Given the description of an element on the screen output the (x, y) to click on. 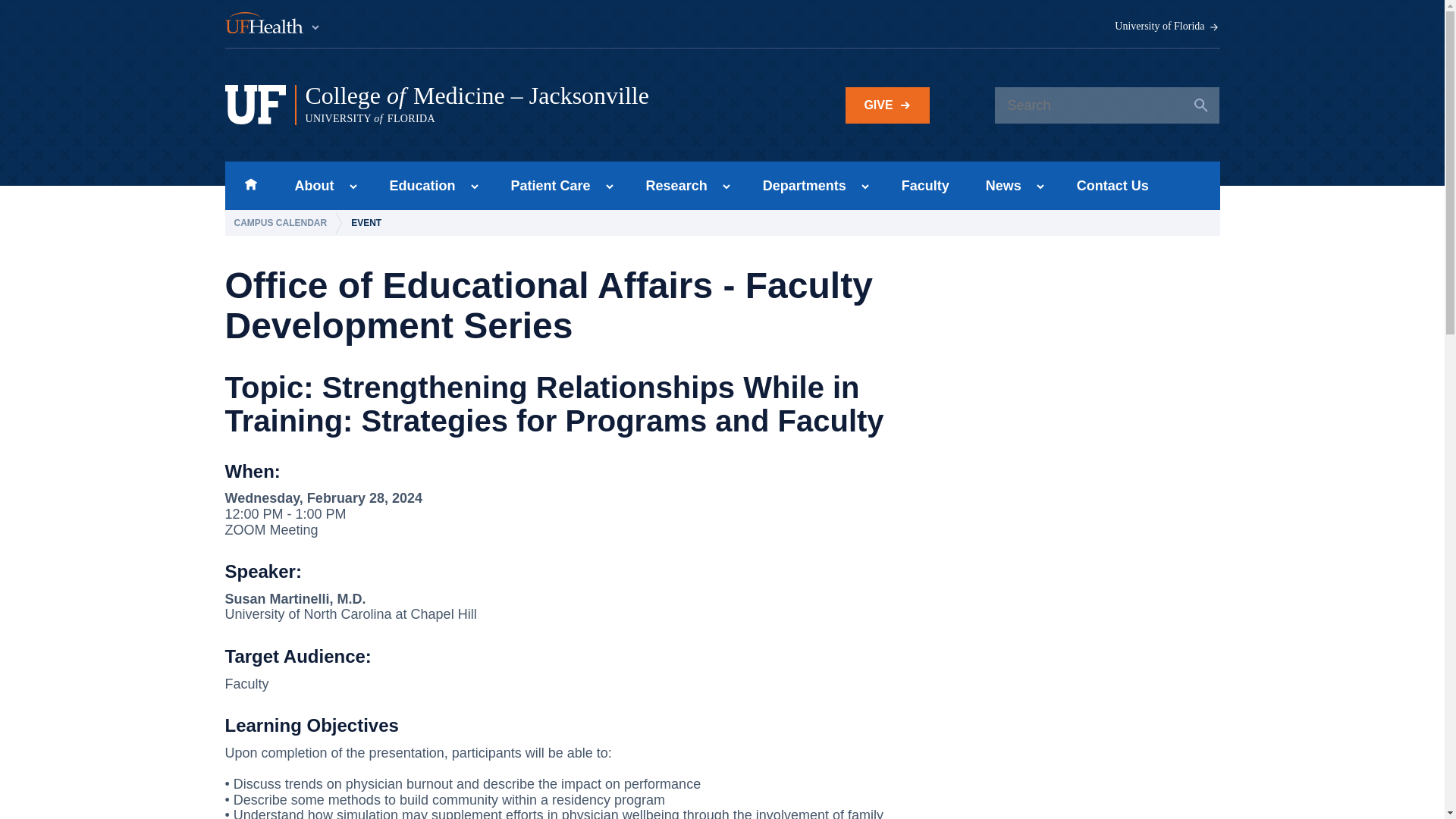
Education (417, 185)
GIVE (886, 104)
Home (250, 185)
University of Florida (1167, 26)
About (309, 185)
UF Health (272, 24)
